Given the description of an element on the screen output the (x, y) to click on. 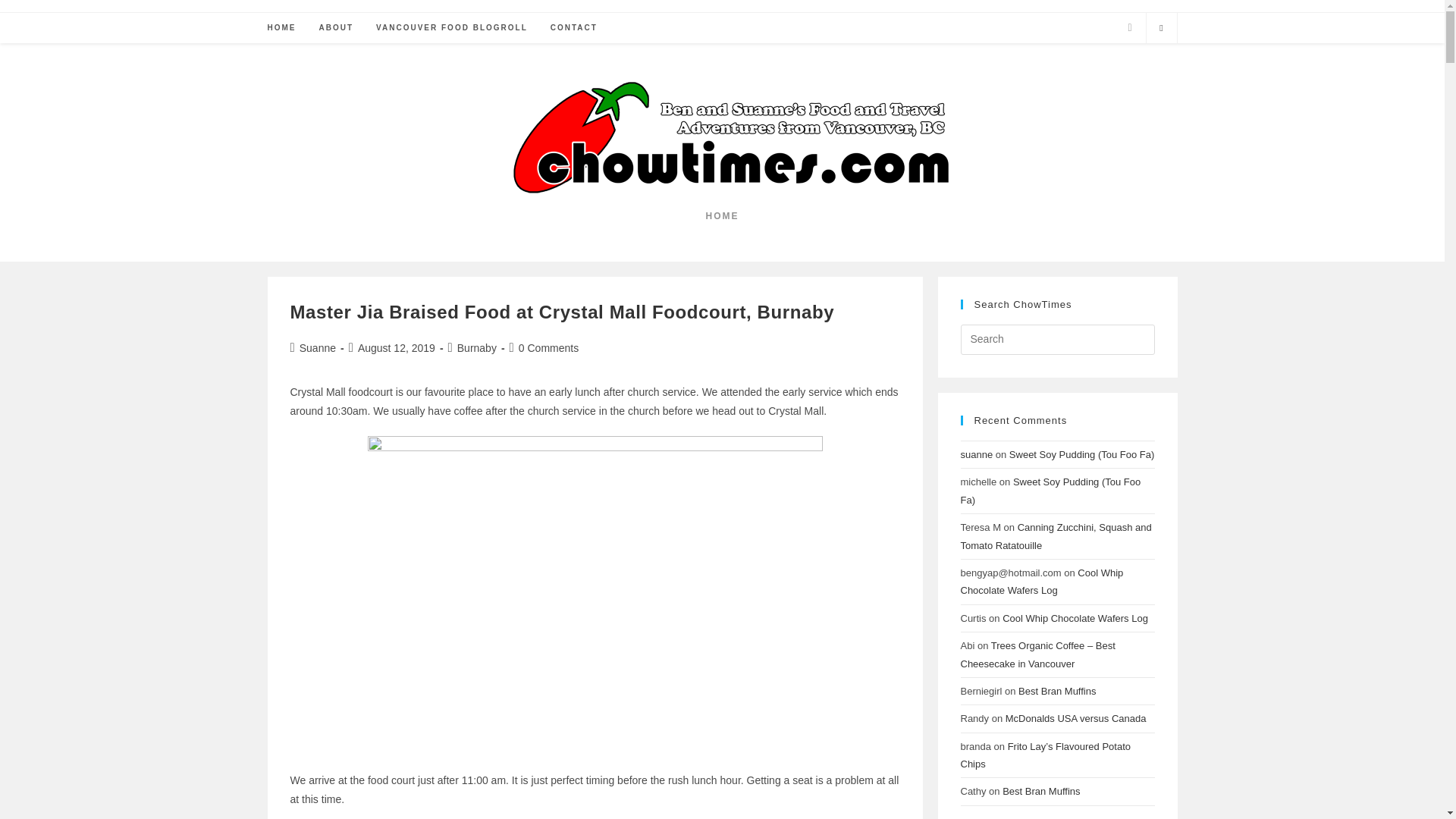
Posts by Suanne (317, 347)
0 Comments (548, 347)
HOME (281, 28)
ABOUT (336, 28)
Burnaby (476, 347)
Master Jia Braised Food at Crystal Mall Foodcourt, Burnaby (561, 312)
CONTACT (573, 28)
Suanne (317, 347)
VANCOUVER FOOD BLOGROLL (451, 28)
